Given the description of an element on the screen output the (x, y) to click on. 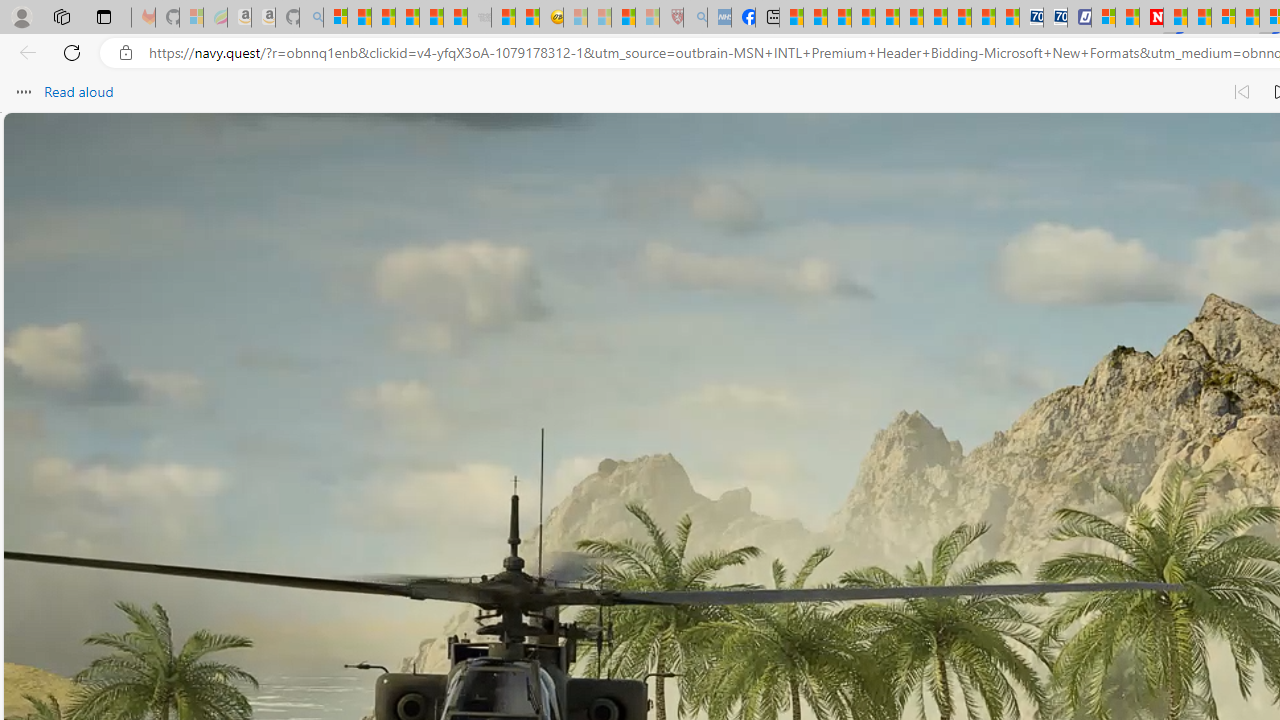
Read previous paragraph (1241, 92)
World - MSN (839, 17)
New Report Confirms 2023 Was Record Hot | Watch (430, 17)
Climate Damage Becomes Too Severe To Reverse (863, 17)
